Given the description of an element on the screen output the (x, y) to click on. 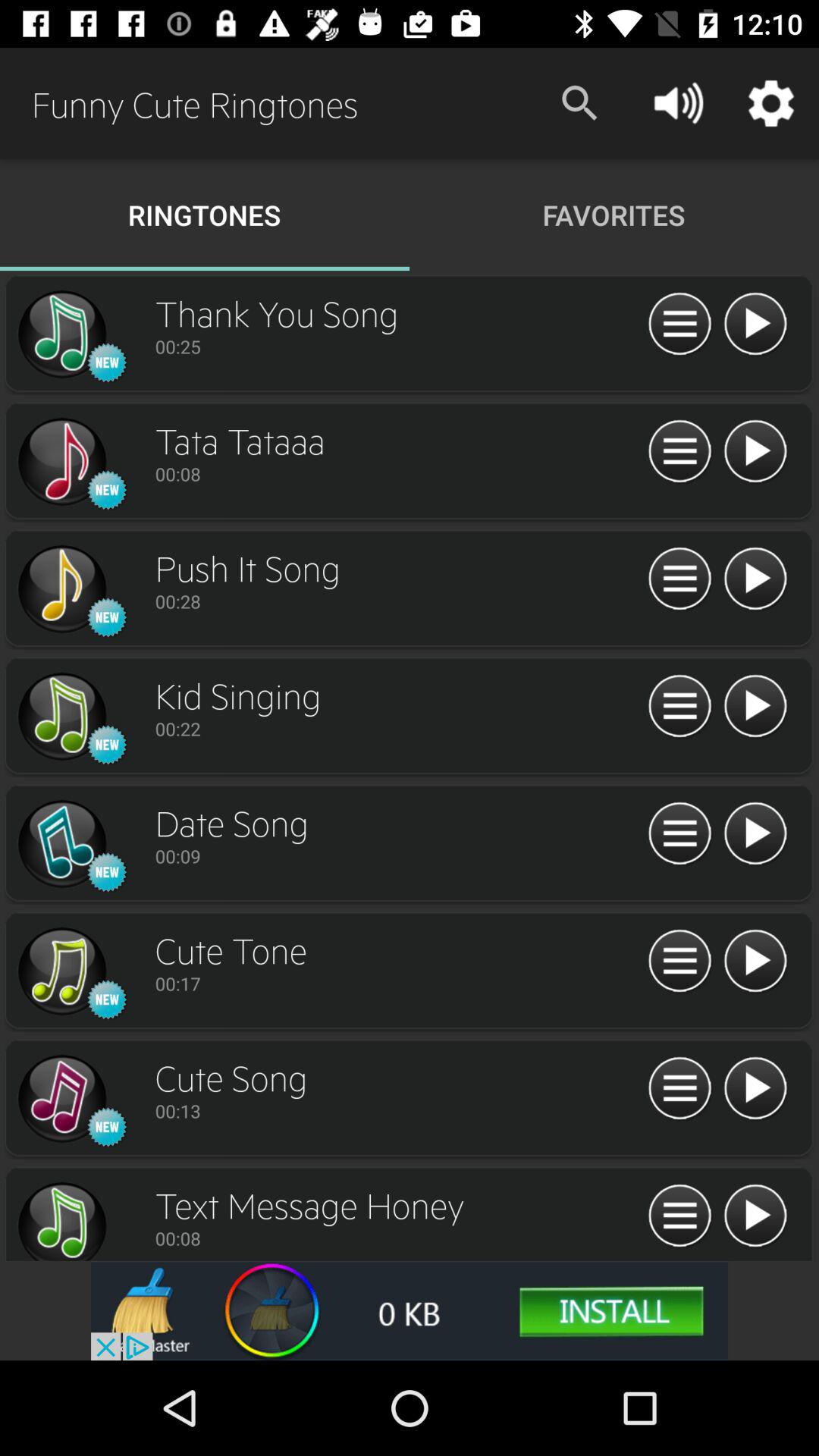
play ringtone (755, 1088)
